Given the description of an element on the screen output the (x, y) to click on. 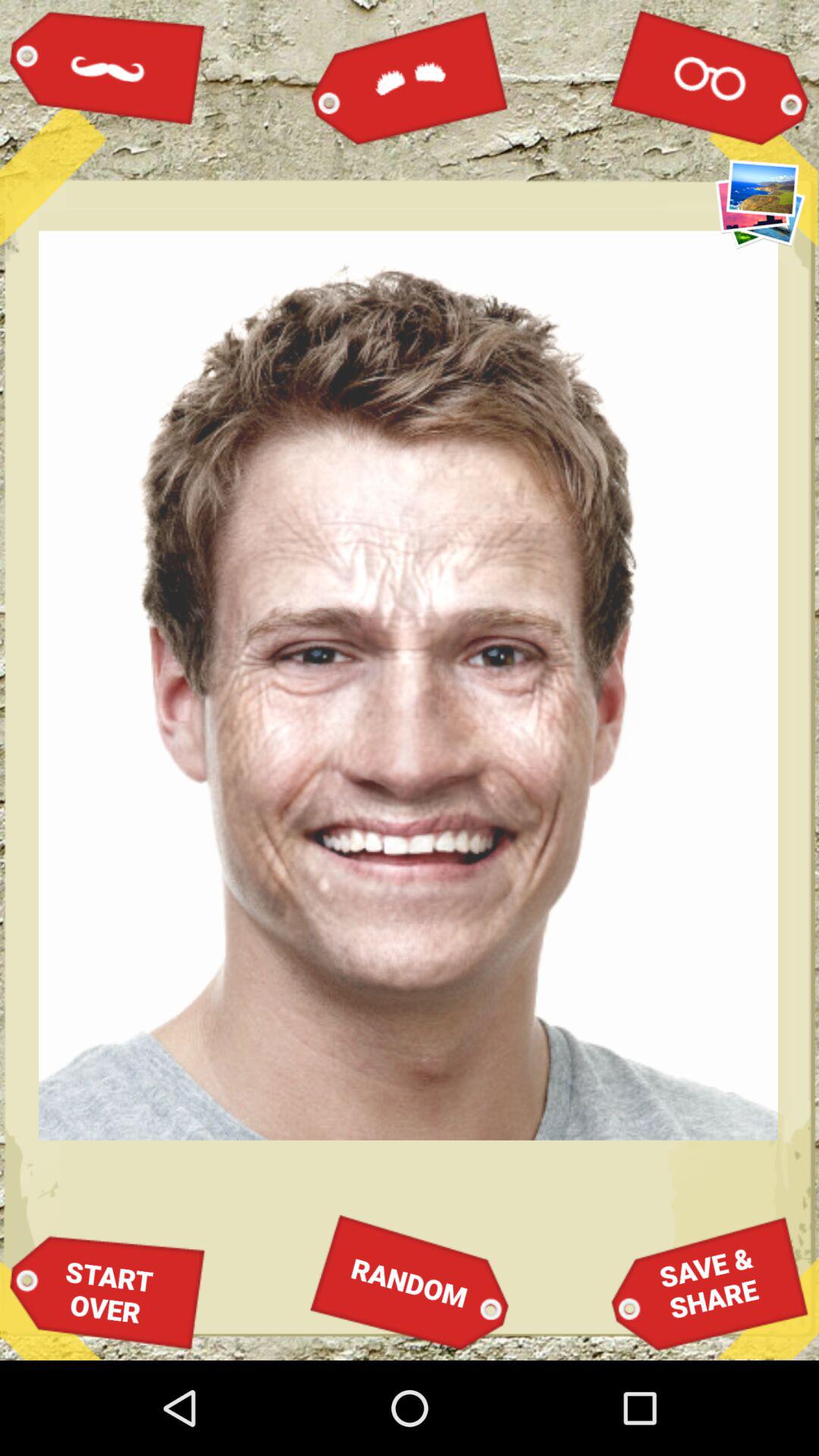
open icon to the right of start
over icon (409, 1282)
